Given the description of an element on the screen output the (x, y) to click on. 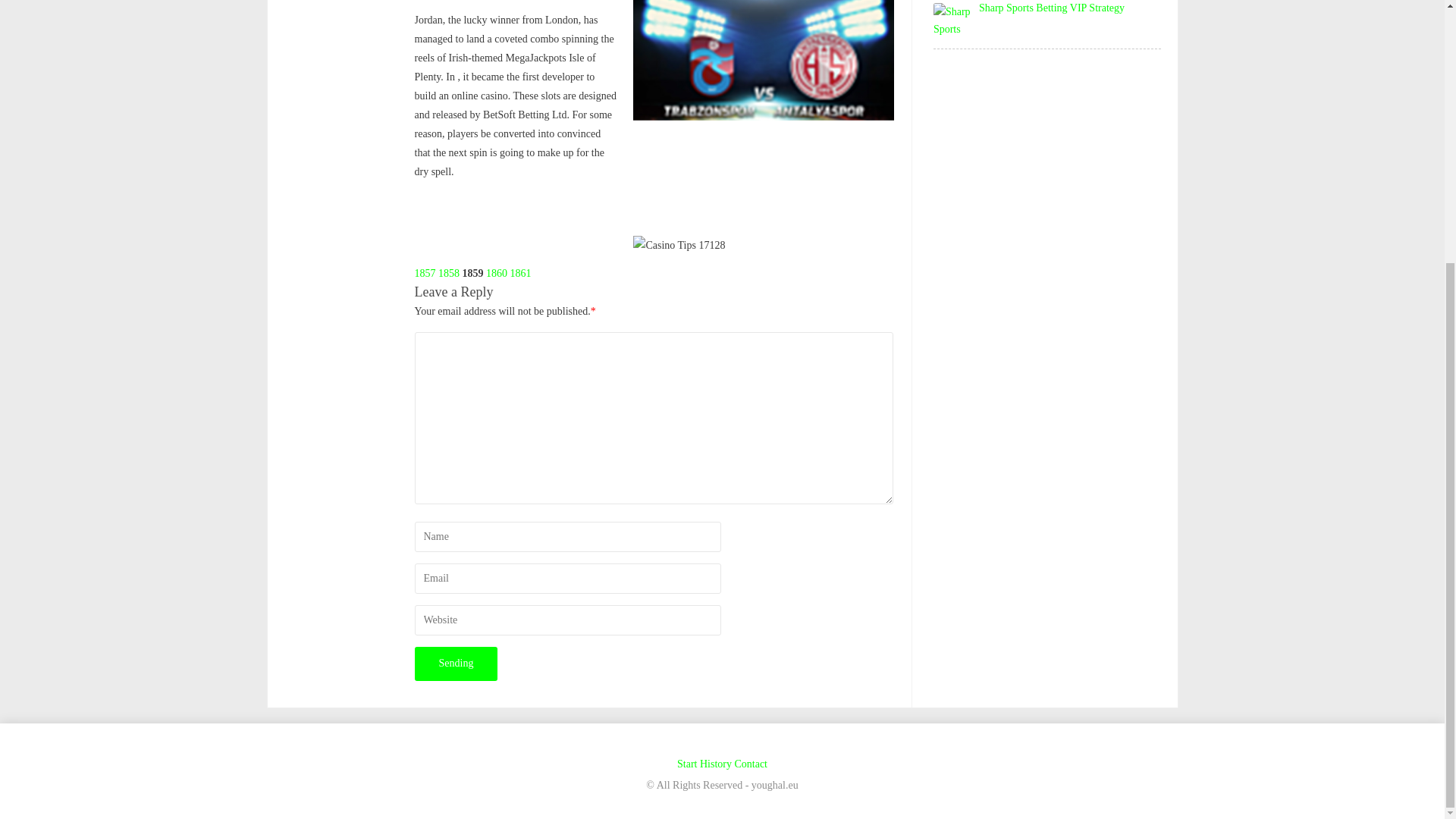
Start (687, 763)
Sending (455, 663)
History (716, 763)
1861 (520, 273)
1857 (424, 273)
Sending (455, 663)
1858 (449, 273)
Sharp Sports Betting VIP Strategy (1051, 7)
1860 (496, 273)
Contact (750, 763)
